Given the description of an element on the screen output the (x, y) to click on. 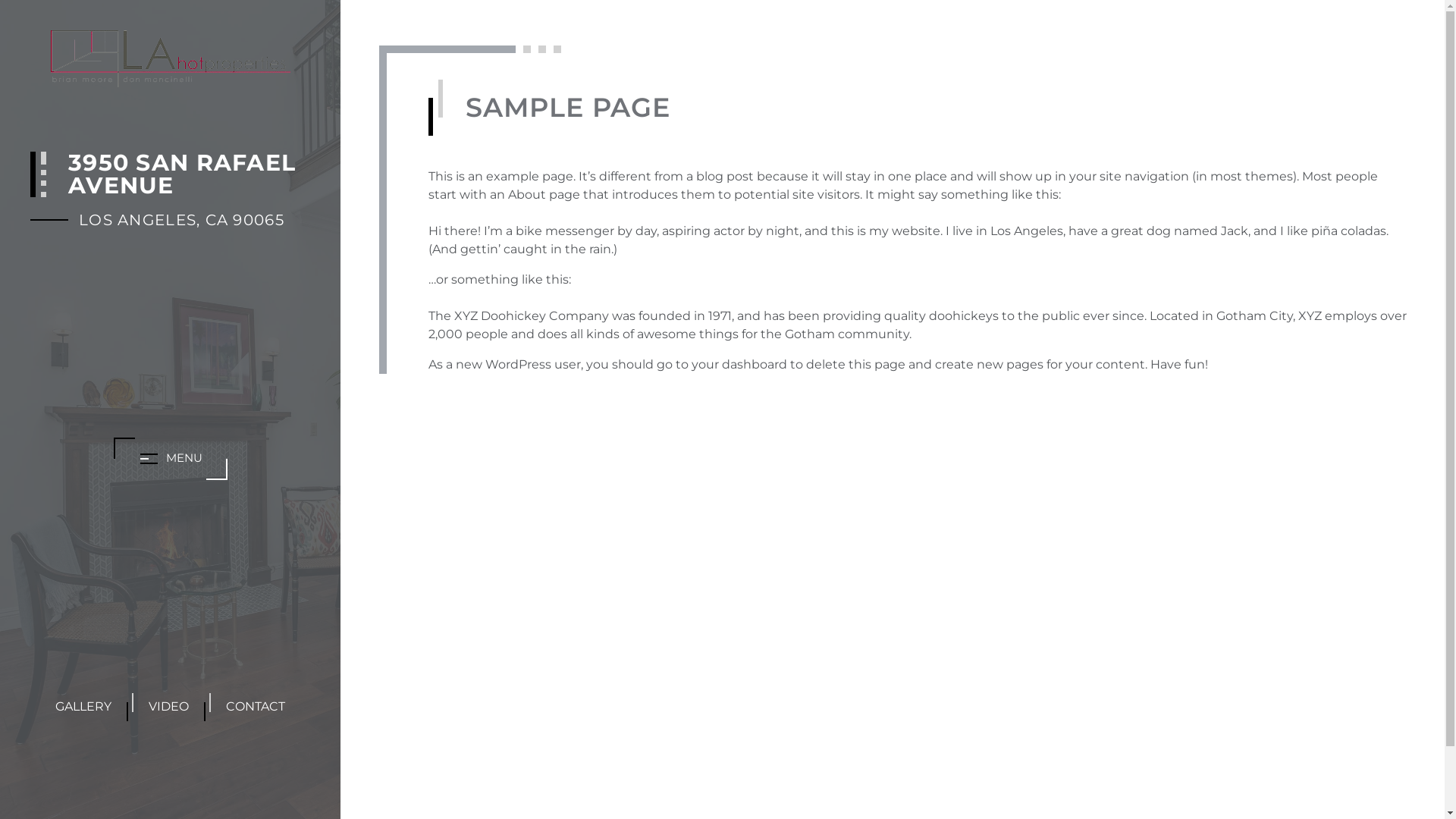
VIDEO Element type: text (168, 706)
GALLERY Element type: text (83, 706)
CONTACT Element type: text (255, 706)
your dashboard Element type: text (739, 364)
MENU Element type: text (170, 458)
